Given the description of an element on the screen output the (x, y) to click on. 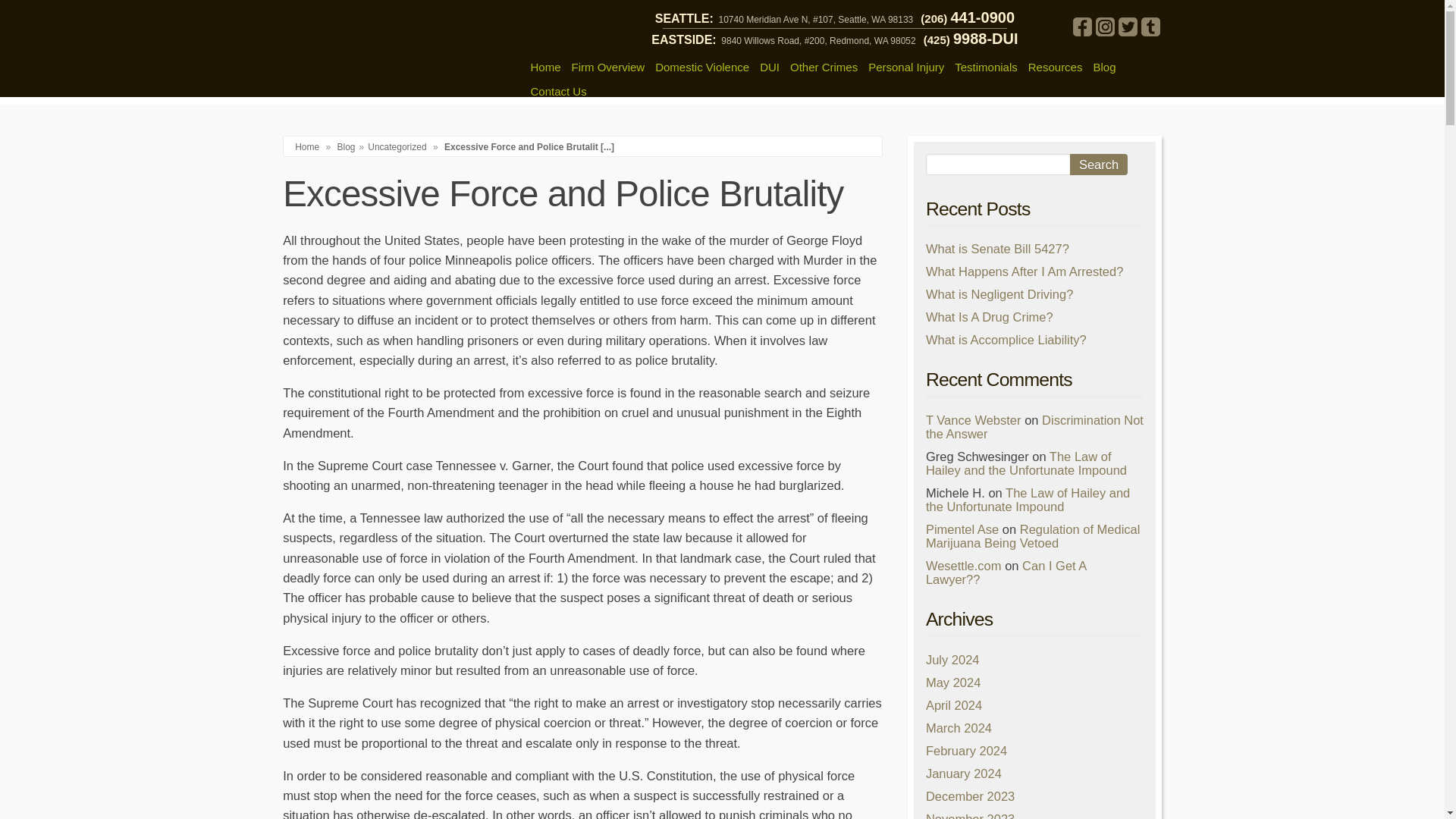
Firm Overview (608, 67)
Search (1098, 164)
Domestic Violence (701, 67)
Instagram (1103, 26)
SQ Attorneys (396, 48)
Twitter (1127, 26)
Home (545, 67)
SQ Attorneys (396, 48)
Facebook (1080, 26)
Tumblr (1149, 26)
Blog (346, 146)
DUI (769, 67)
